Given the description of an element on the screen output the (x, y) to click on. 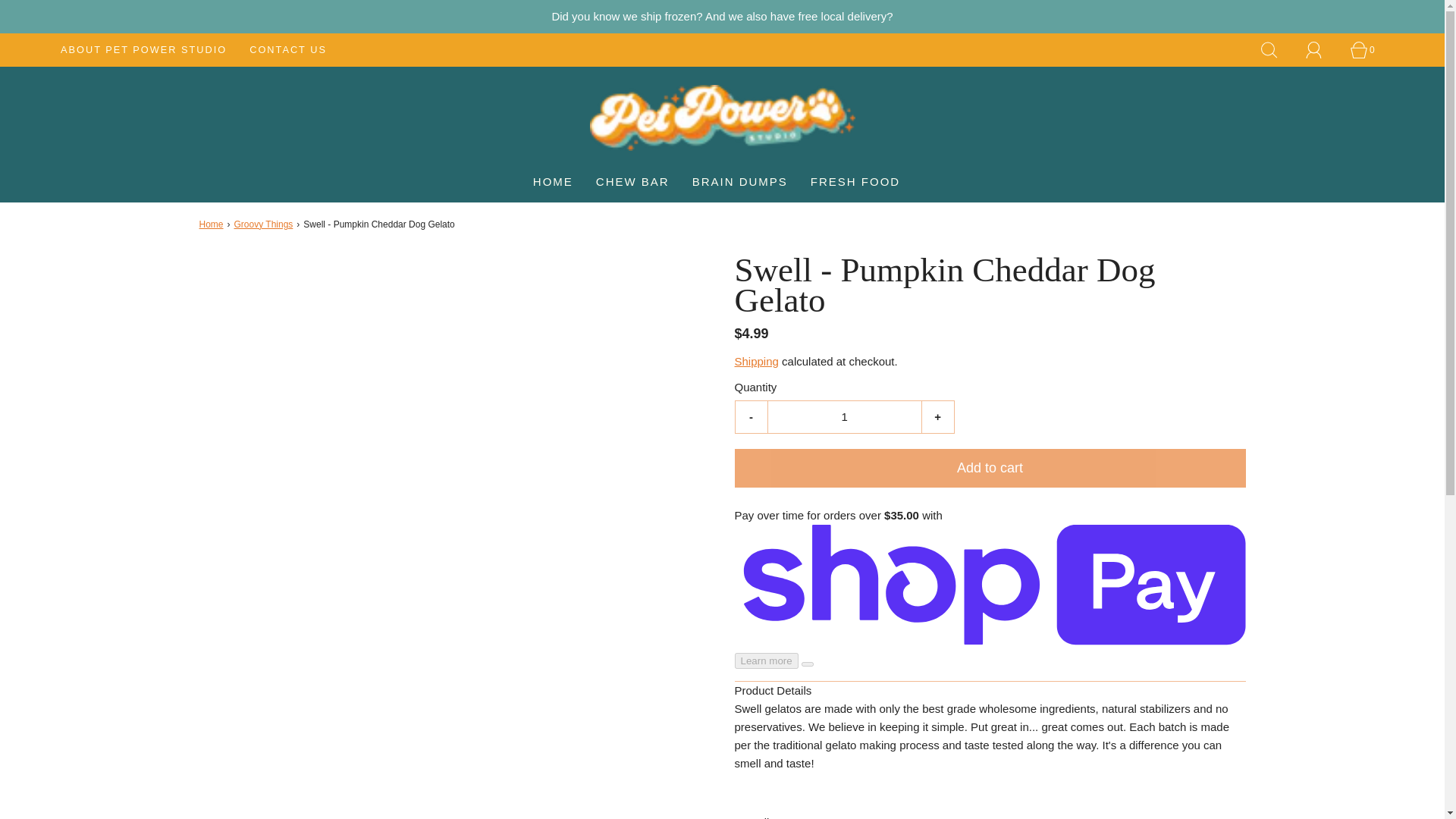
Search (1277, 49)
Groovy Things (265, 224)
Back to the frontpage (212, 224)
CHEW BAR (632, 181)
Log in (1322, 49)
1 (843, 417)
CONTACT US (287, 49)
ABOUT PET POWER STUDIO (144, 49)
BRAIN DUMPS (740, 181)
HOME (552, 181)
Home (212, 224)
Cart (1367, 49)
0 (1367, 49)
FRESH FOOD (854, 181)
